Given the description of an element on the screen output the (x, y) to click on. 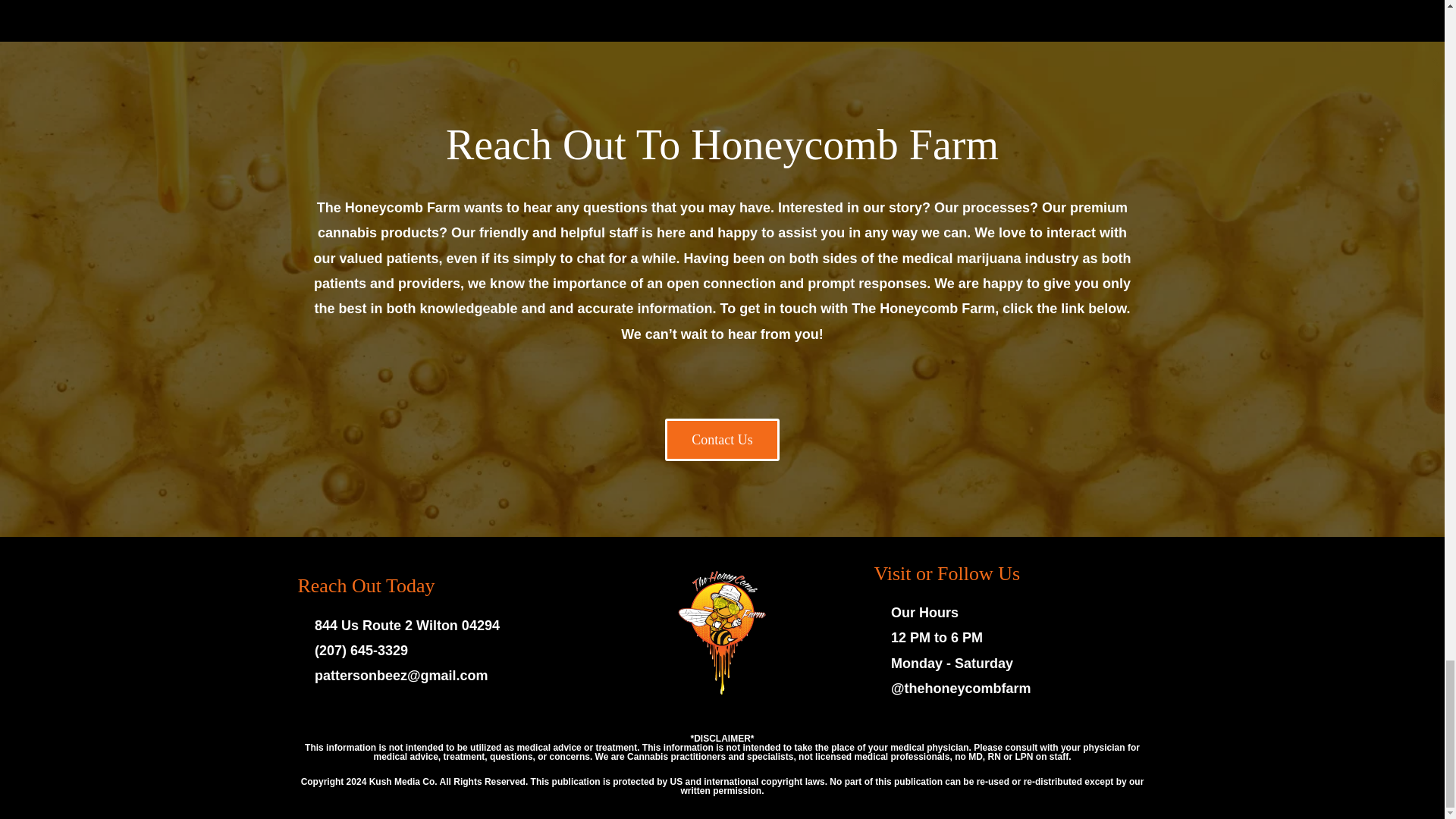
Kush Media Co. (404, 781)
844 Us Route 2 Wilton 04294 (433, 625)
Contact Us (721, 439)
